Given the description of an element on the screen output the (x, y) to click on. 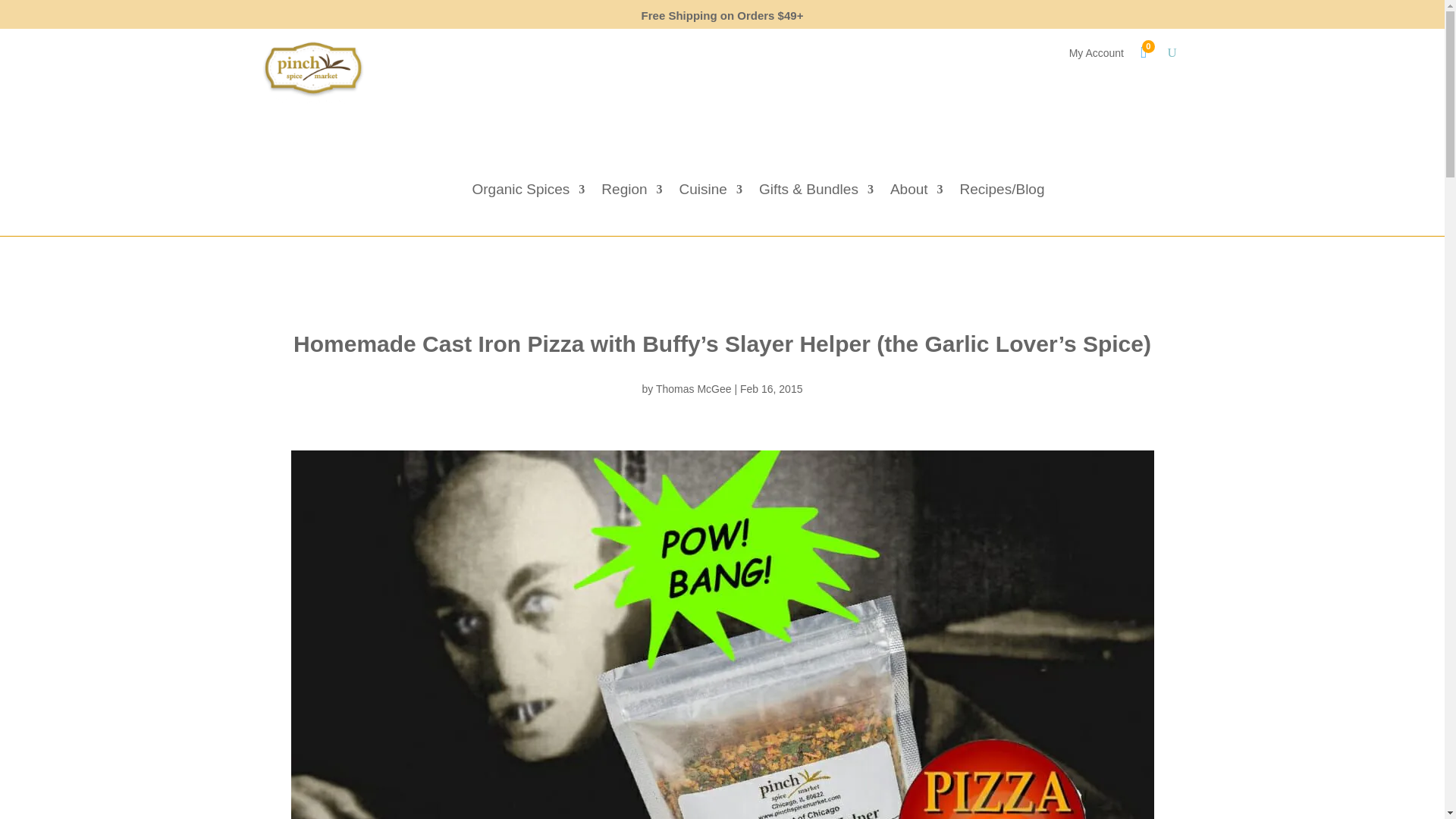
Pinch spices logo for Head (312, 72)
Cuisine (710, 192)
Region (631, 192)
Organic Spices (528, 192)
My Account (1096, 55)
